Given the description of an element on the screen output the (x, y) to click on. 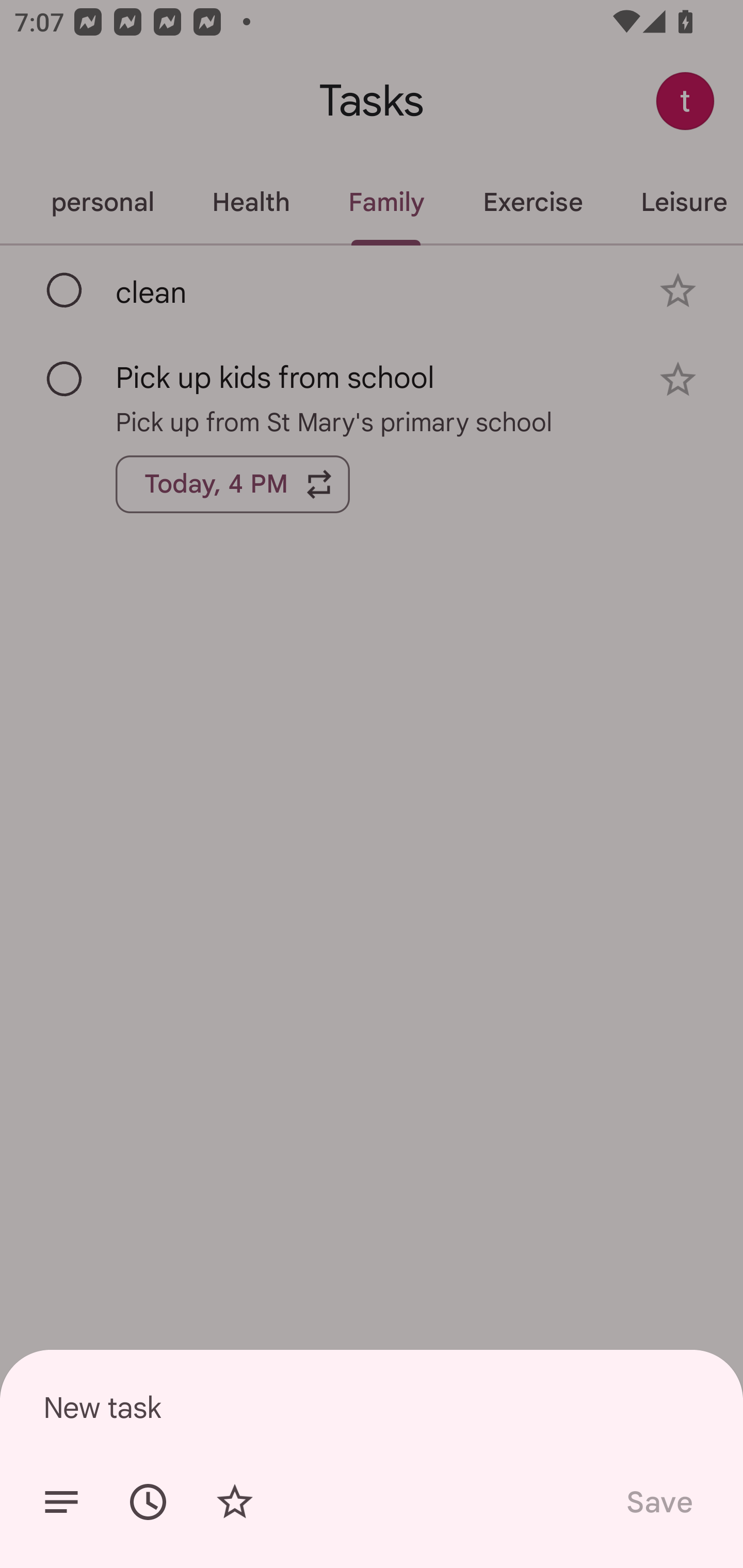
New task (371, 1407)
Save (659, 1501)
Add details (60, 1501)
Set date/time (147, 1501)
Add star (234, 1501)
